Given the description of an element on the screen output the (x, y) to click on. 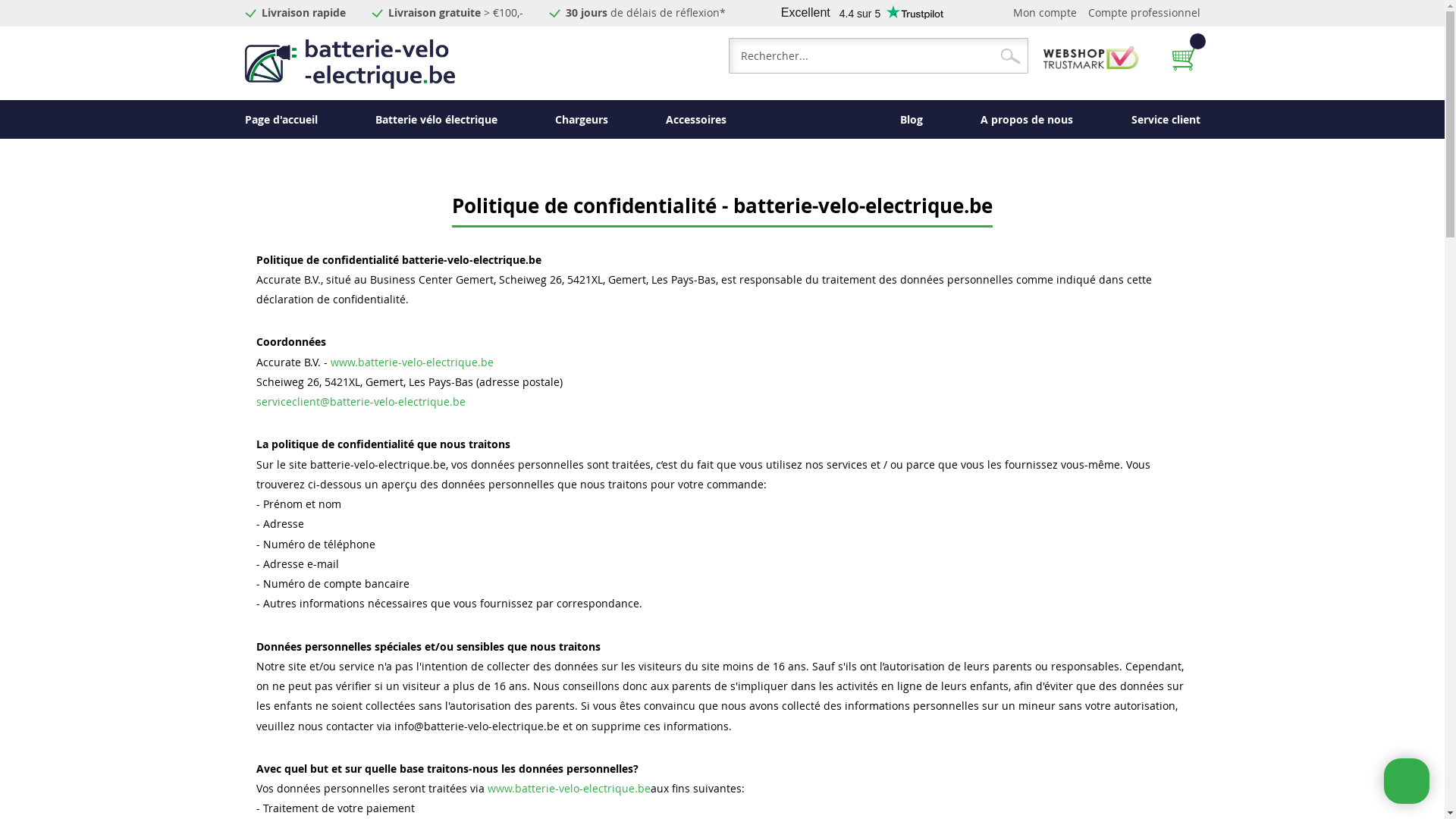
www.batterie-velo-electrique.be Element type: text (411, 361)
Customer reviews powered by Trustpilot Element type: hover (861, 12)
A propos de nous Element type: text (1026, 119)
Chargeurs Element type: text (581, 119)
Blog Element type: text (911, 119)
trengo-widget-launcher Element type: hover (1406, 780)
Mon panier Element type: text (1186, 57)
Webshop Trustmark Element type: text (1090, 64)
Livraison rapide Element type: text (302, 12)
Mon compte Element type: text (1044, 12)
Allez au contenu Element type: text (244, 12)
serviceclient@batterie-velo-electrique.be Element type: text (360, 401)
Compte professionnel Element type: text (1144, 12)
Service client Element type: text (1165, 119)
www.batterie-velo-electrique.be Element type: text (567, 788)
batterie velo electrique Element type: hover (349, 63)
Accessoires Element type: text (695, 119)
Page d'accueil Element type: text (280, 119)
